Given the description of an element on the screen output the (x, y) to click on. 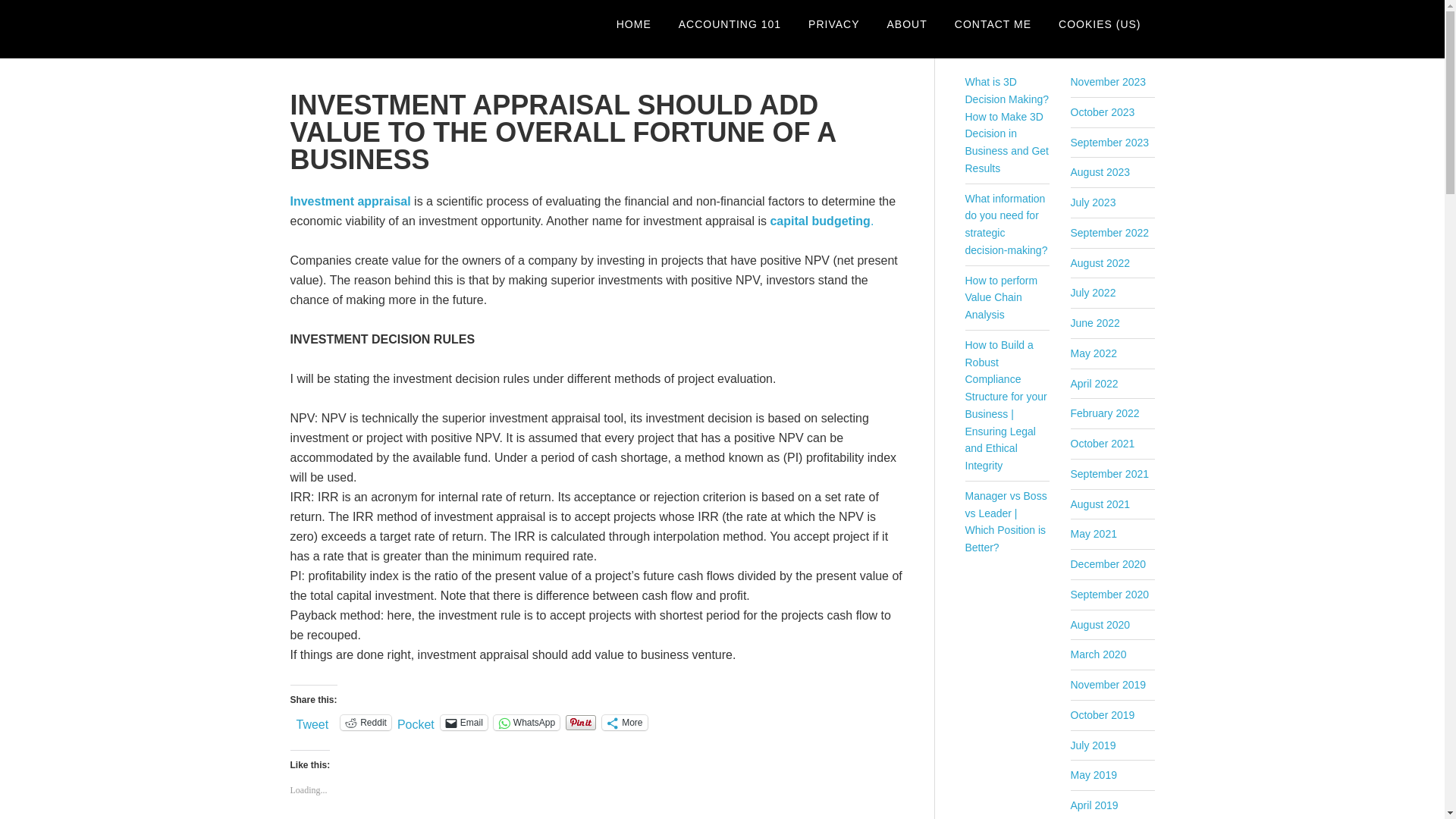
May 2022 (1093, 353)
July 2023 (1093, 202)
Click to share on WhatsApp (526, 722)
November 2023 (1108, 81)
capital budgeting. (821, 220)
How to perform Value Chain Analysis (999, 297)
CONTACT ME (992, 24)
Tweet (312, 721)
October 2023 (1102, 111)
Pocket (415, 724)
September 2022 (1110, 232)
PRIVACY (833, 24)
Reddit (365, 722)
August 2023 (1100, 172)
What information do you need for strategic decision-making? (1004, 224)
